Given the description of an element on the screen output the (x, y) to click on. 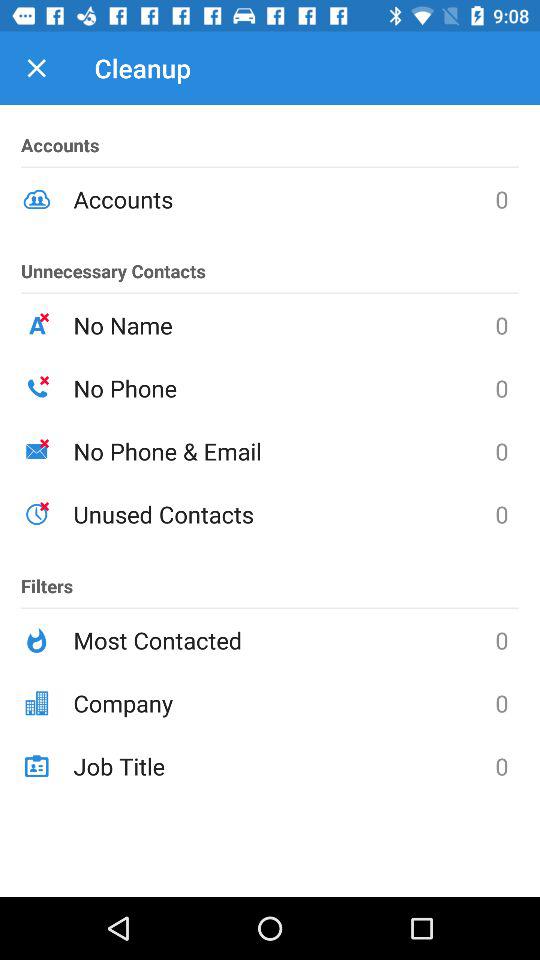
launch filters item (47, 577)
